Given the description of an element on the screen output the (x, y) to click on. 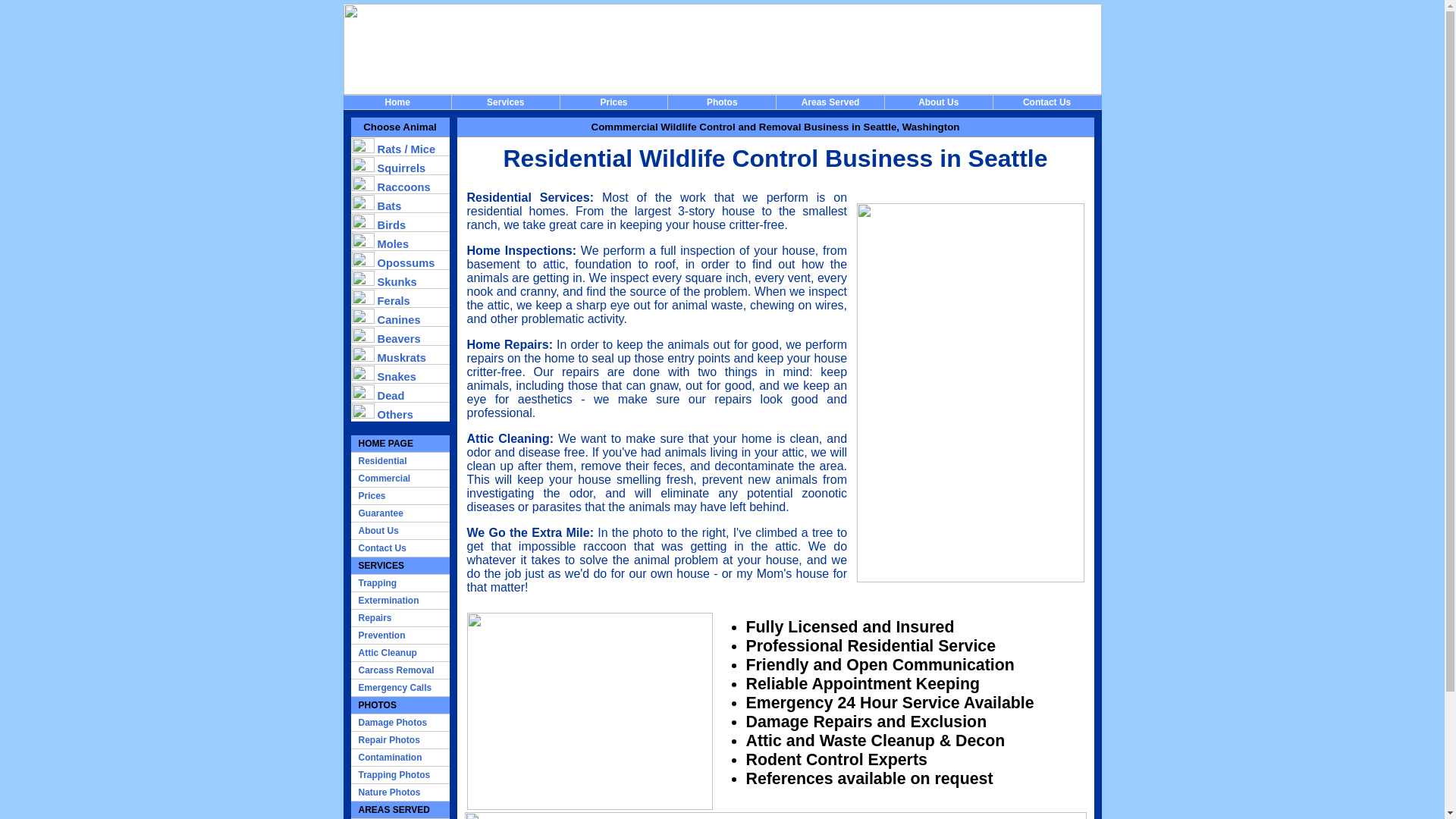
Contact Us (399, 548)
Residential (399, 461)
Guarantee (399, 513)
Photos (722, 101)
Beavers (399, 335)
About Us (399, 530)
Trapping (399, 583)
Repair Photos (399, 740)
PHOTOS (399, 705)
Carcass Removal (399, 670)
